Given the description of an element on the screen output the (x, y) to click on. 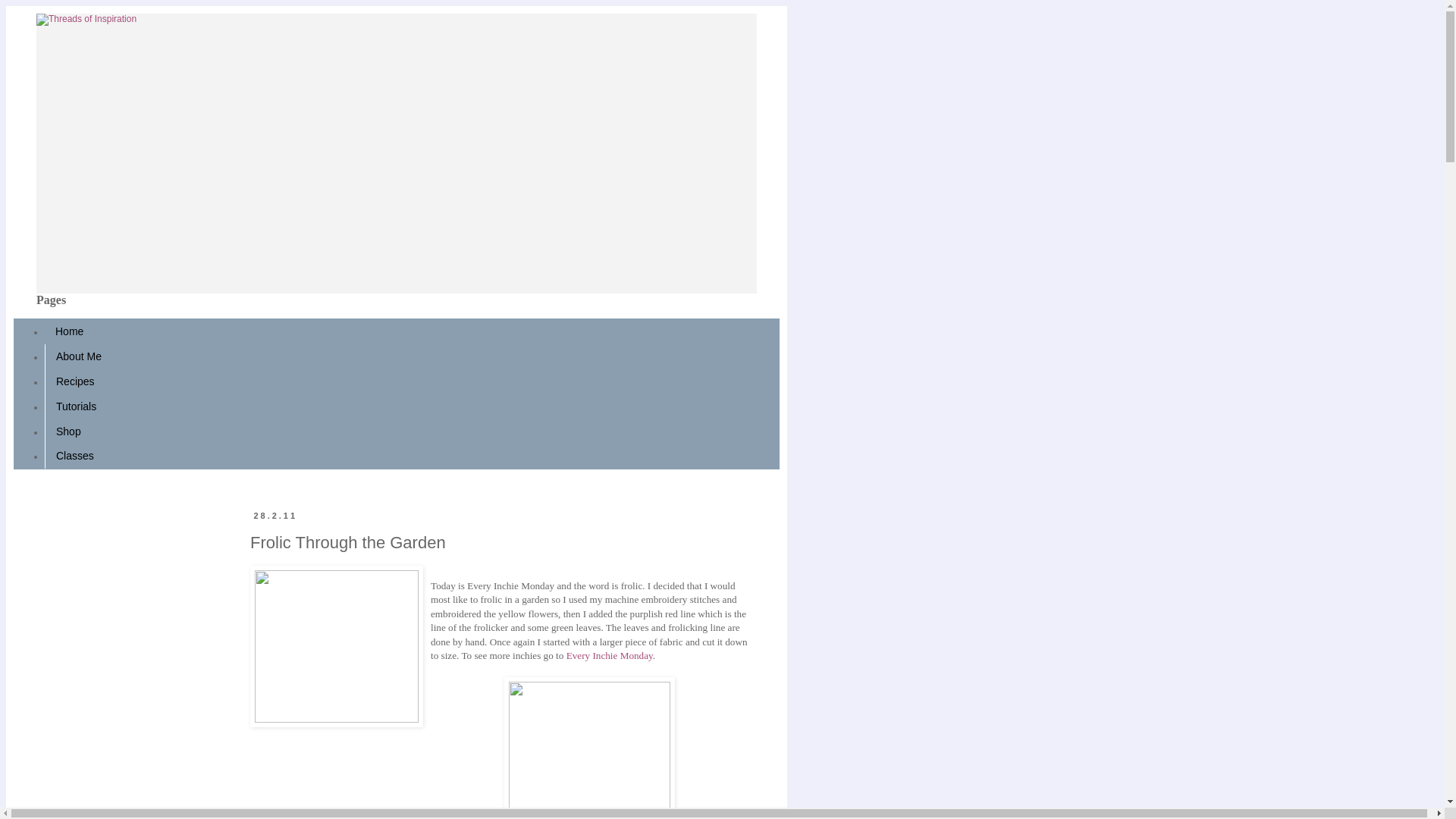
Shop (69, 430)
Home (69, 331)
Recipes (75, 381)
About Me (79, 356)
Classes (74, 455)
Every Inchie Monday (609, 655)
Tutorials (76, 405)
